Given the description of an element on the screen output the (x, y) to click on. 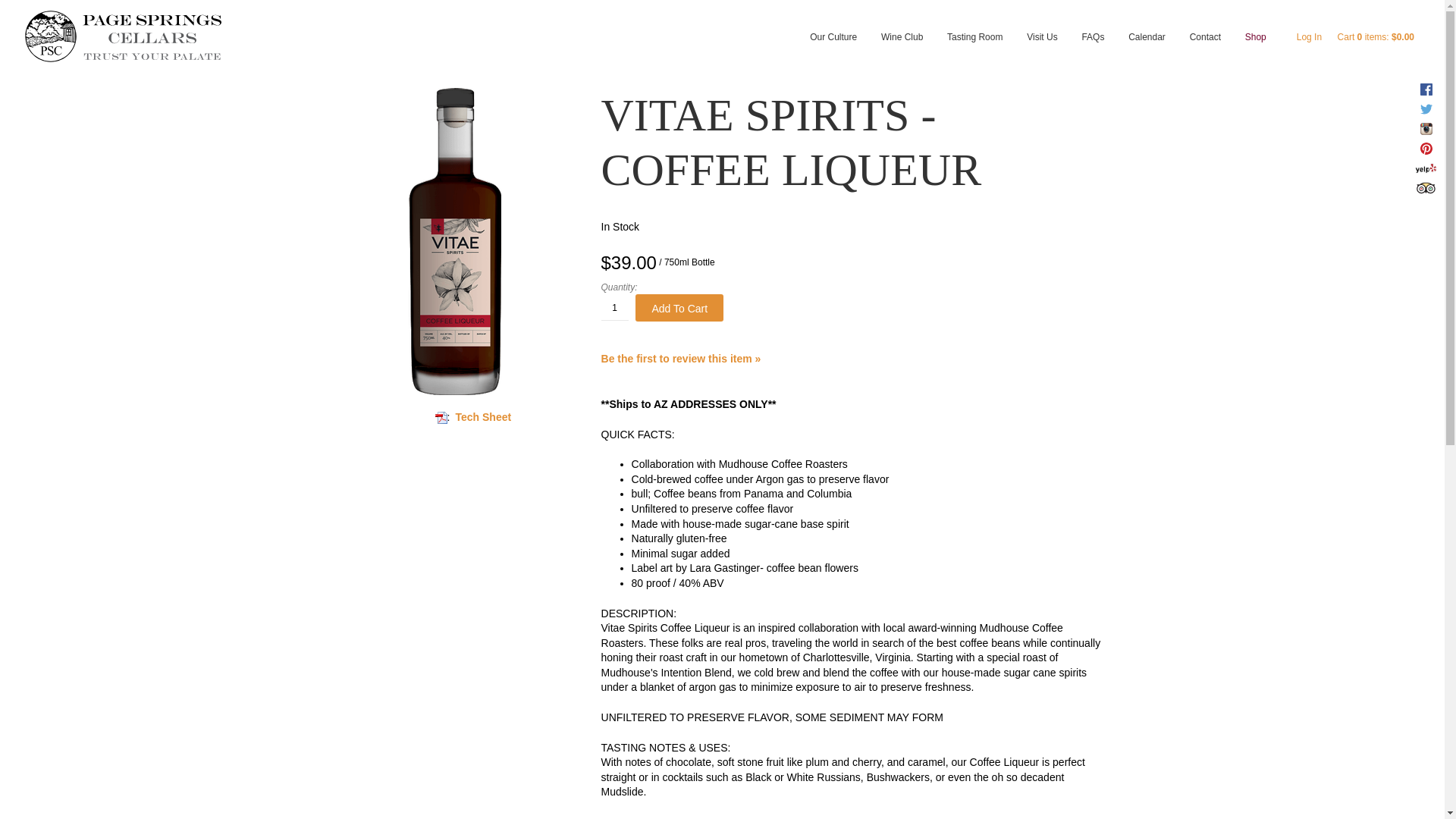
Wine Club (901, 24)
Our Culture (833, 24)
Add To Cart (678, 307)
Calendar (1146, 24)
Shop (1255, 24)
Tech Sheet (482, 417)
Contact (1205, 24)
Tasting Room (974, 24)
Visit Us (1041, 24)
FAQs (1092, 24)
